Given the description of an element on the screen output the (x, y) to click on. 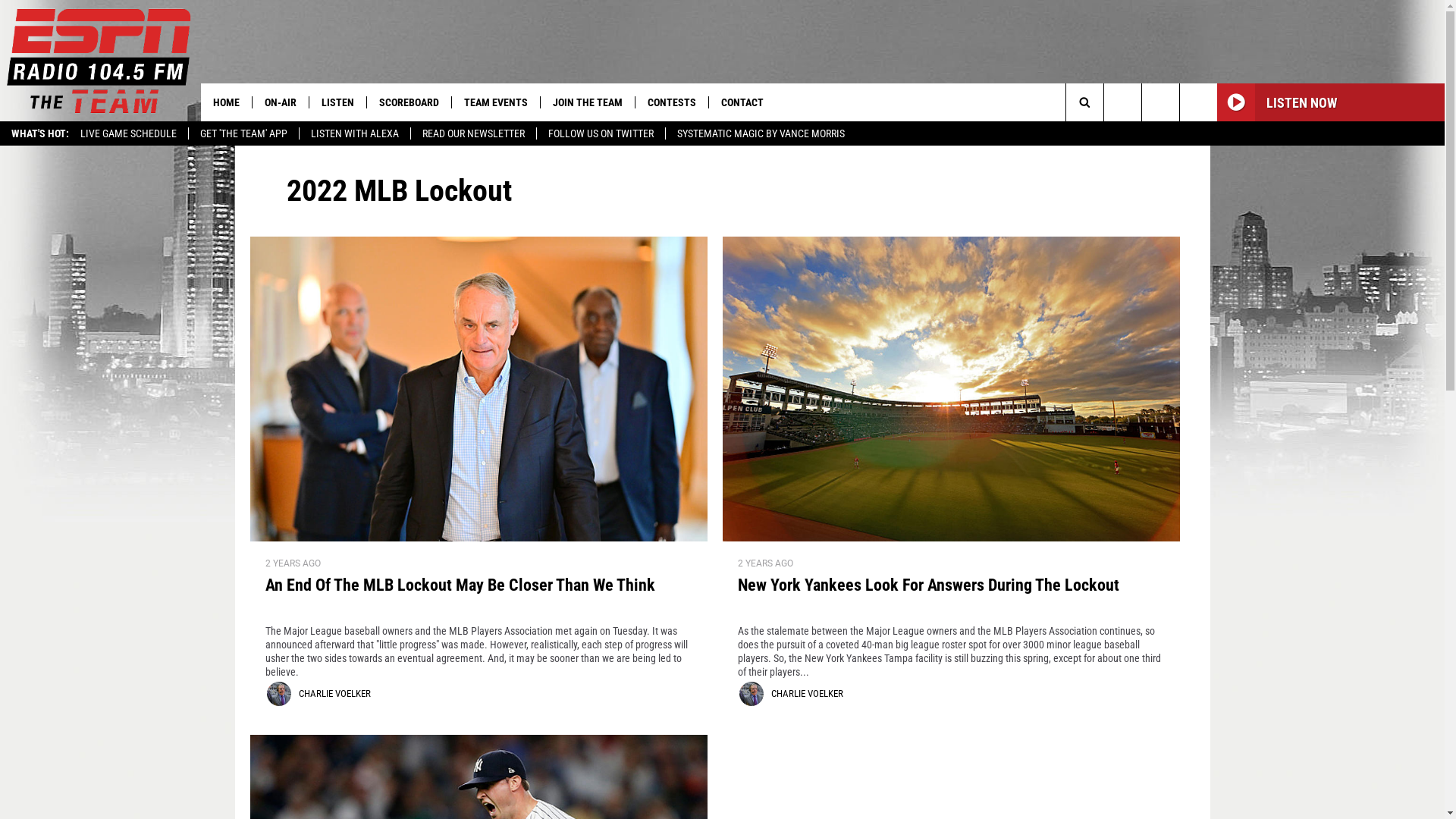
LIVE GAME SCHEDULE Element type: text (128, 133)
ON-AIR Element type: text (279, 102)
SCOREBOARD Element type: text (408, 102)
Visit us on Youtube Element type: text (1122, 102)
SYSTEMATIC MAGIC BY VANCE MORRIS Element type: text (760, 133)
CHARLIE VOELKER Element type: text (806, 693)
GET 'THE TEAM' APP Element type: text (243, 133)
CONTESTS Element type: text (671, 102)
FOLLOW US ON TWITTER Element type: text (600, 133)
CHARLIE VOELKER Element type: text (334, 693)
New York Yankees Look For Answers During The Lockout Element type: text (950, 595)
Charlie Voelker Element type: text (278, 693)
JOIN THE TEAM Element type: text (586, 102)
LISTEN Element type: text (337, 102)
READ OUR NEWSLETTER Element type: text (473, 133)
An End Of The MLB Lockout May Be Closer Than We Think Element type: text (478, 595)
Visit us on Twitter Element type: text (1198, 102)
HOME Element type: text (225, 102)
Charlie Voelker Element type: text (750, 693)
CONTACT Element type: text (741, 102)
LISTEN NOW Element type: text (1330, 102)
Visit us on Facebook Element type: text (1160, 102)
TEAM EVENTS Element type: text (495, 102)
LISTEN WITH ALEXA Element type: text (354, 133)
